Given the description of an element on the screen output the (x, y) to click on. 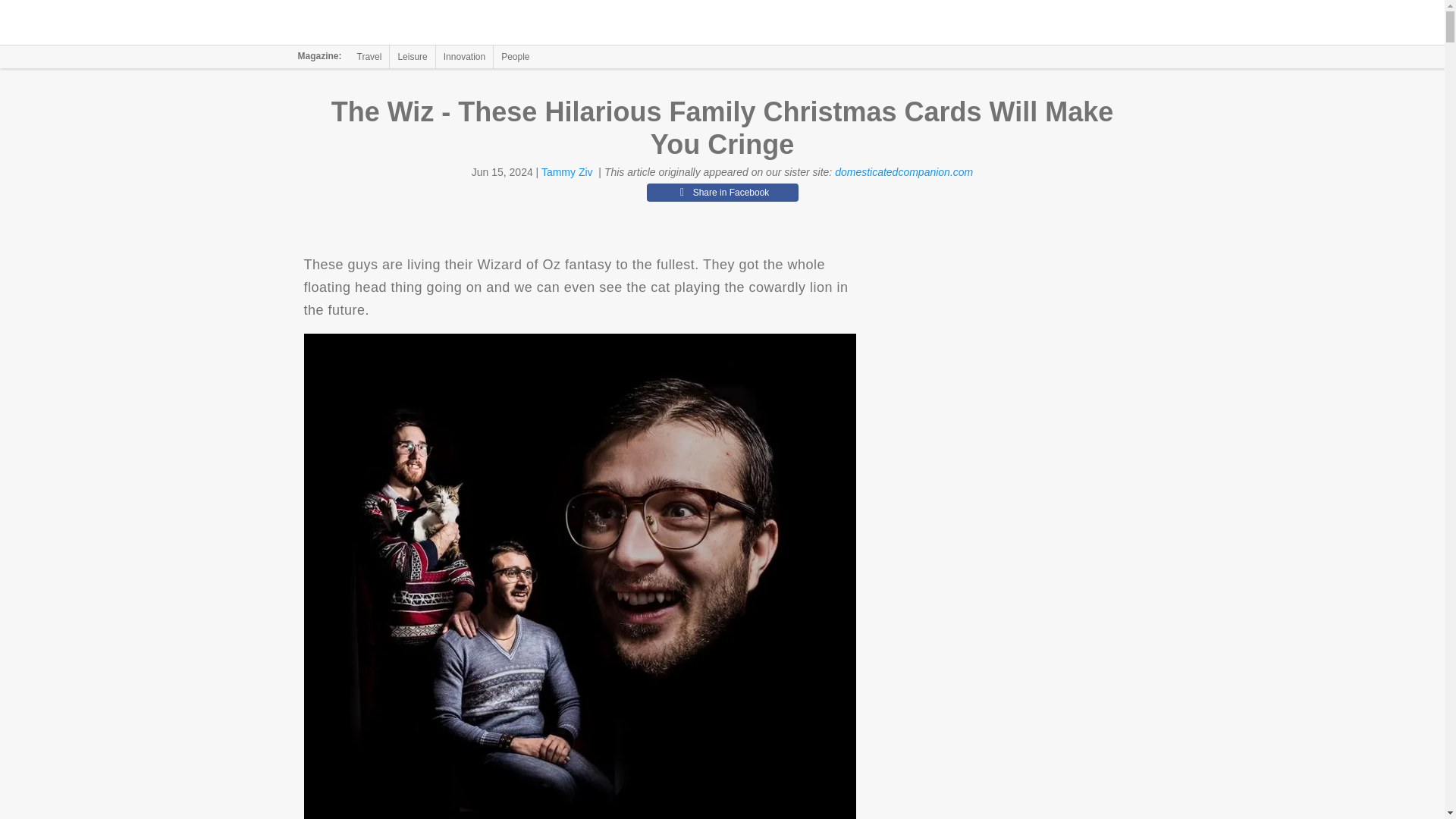
domesticatedcompanion.com (903, 172)
Share in Facebook (721, 192)
Innovation (464, 56)
Travel (369, 56)
The Jerusalem Post Magazine (391, 22)
People (515, 56)
Leisure (411, 56)
Tammy Ziv (566, 172)
